Given the description of an element on the screen output the (x, y) to click on. 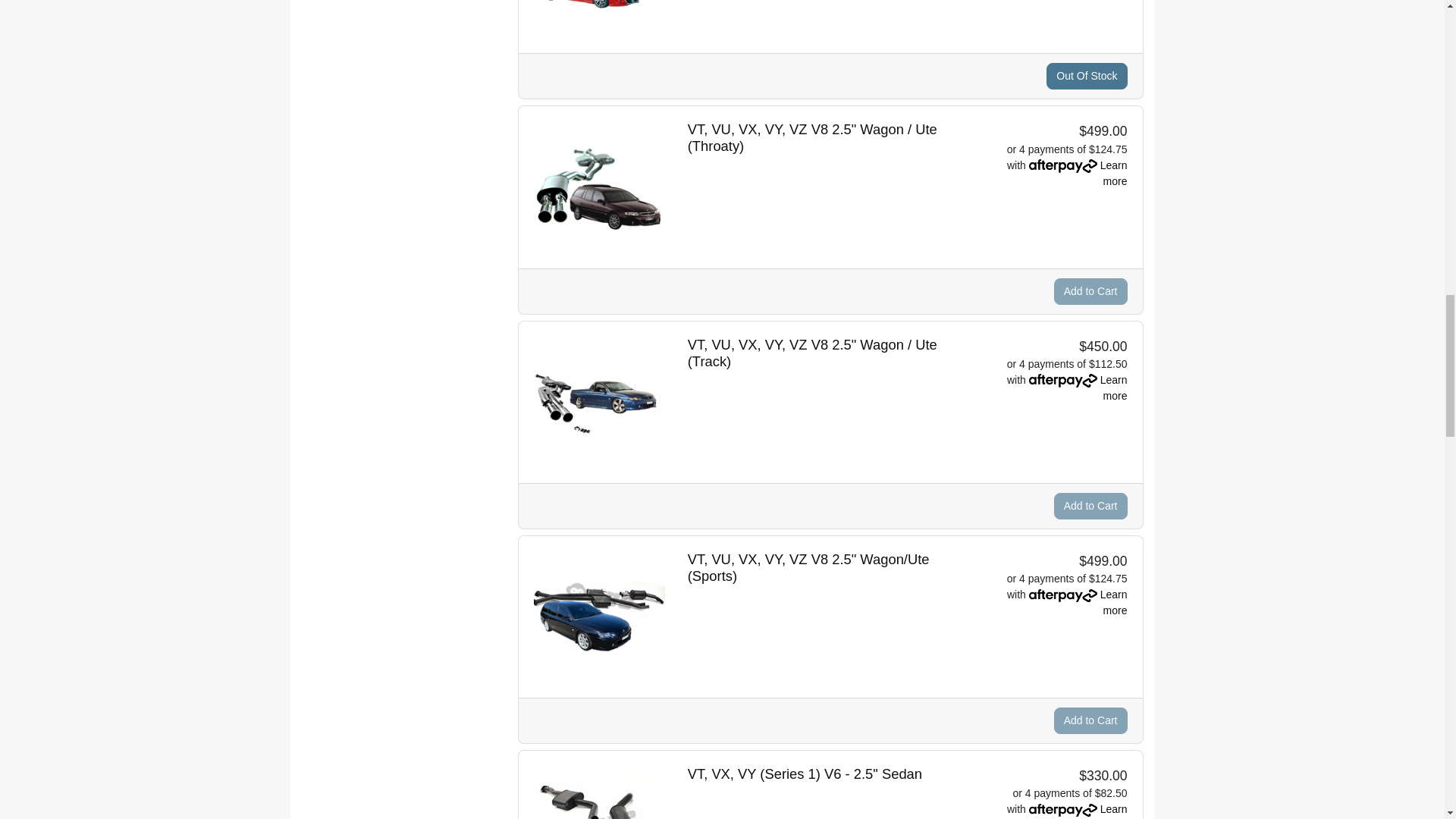
Notify Me When Back In Stock (1086, 76)
Add to Cart (1090, 506)
Add to Cart (1090, 290)
Add to Cart (1090, 720)
